Given the description of an element on the screen output the (x, y) to click on. 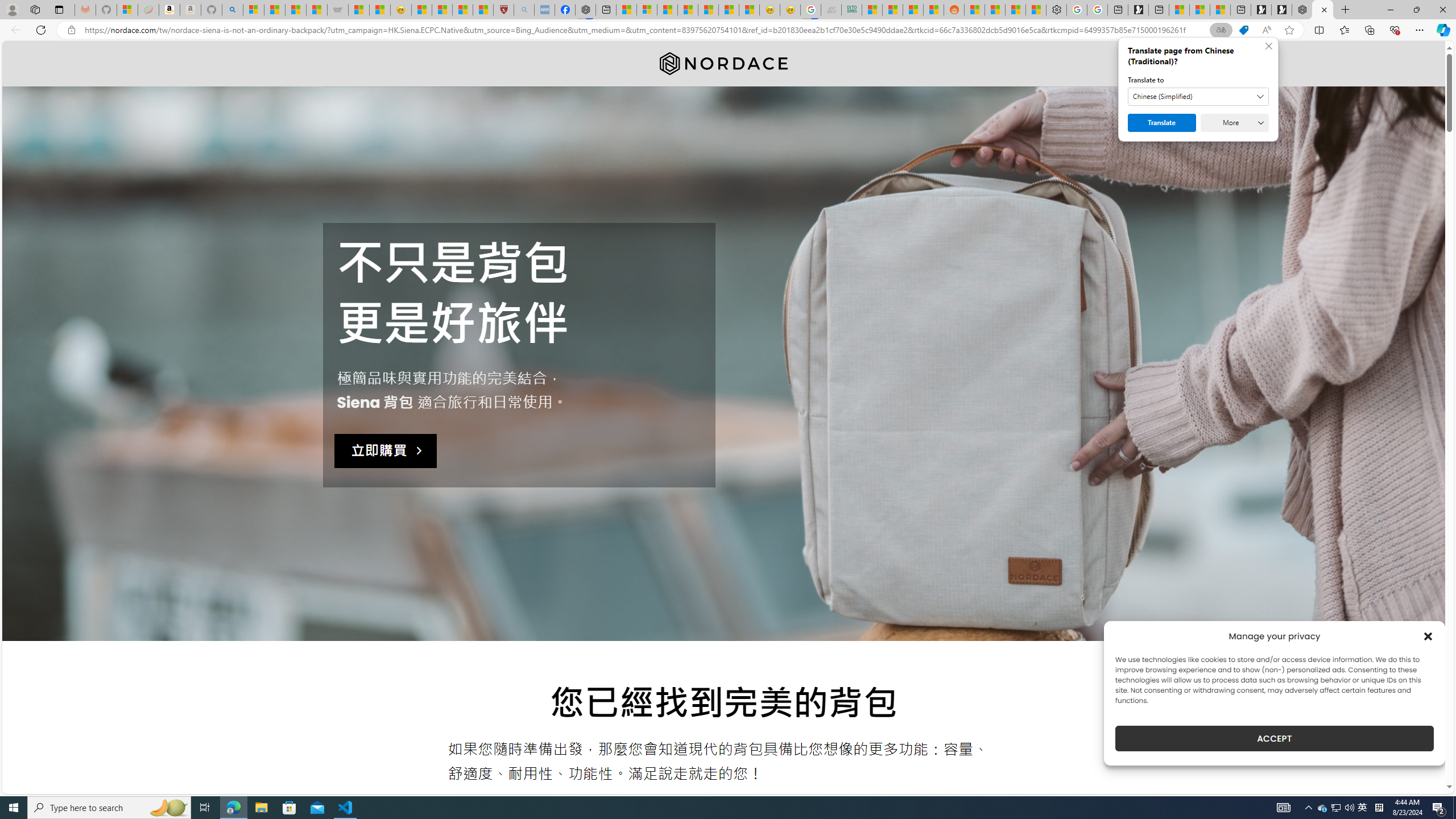
Fitness - MSN (708, 9)
R******* | Trusted Community Engagement and Contributions (974, 9)
